Given the description of an element on the screen output the (x, y) to click on. 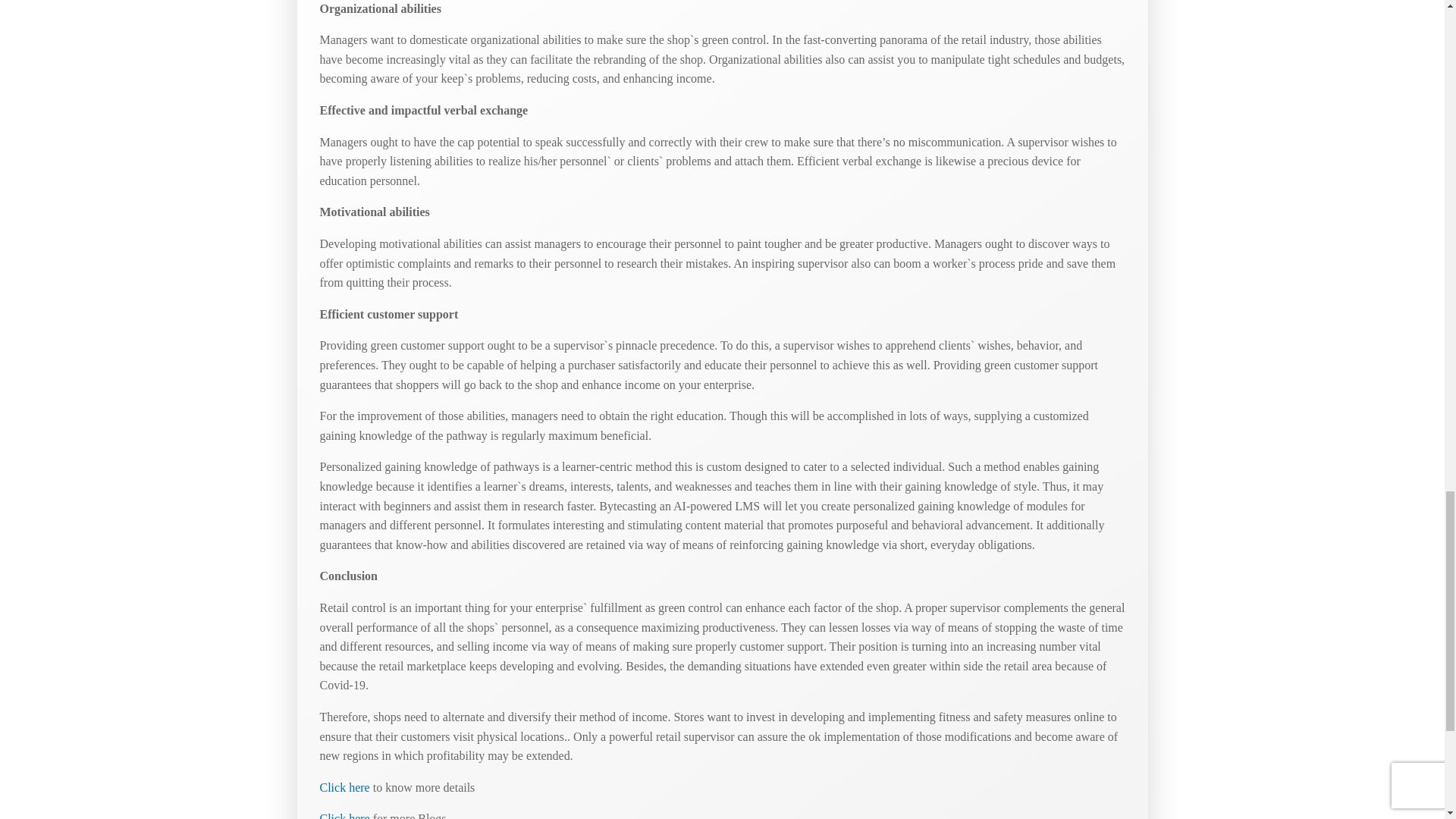
Click here (344, 787)
Click here (344, 815)
